Given the description of an element on the screen output the (x, y) to click on. 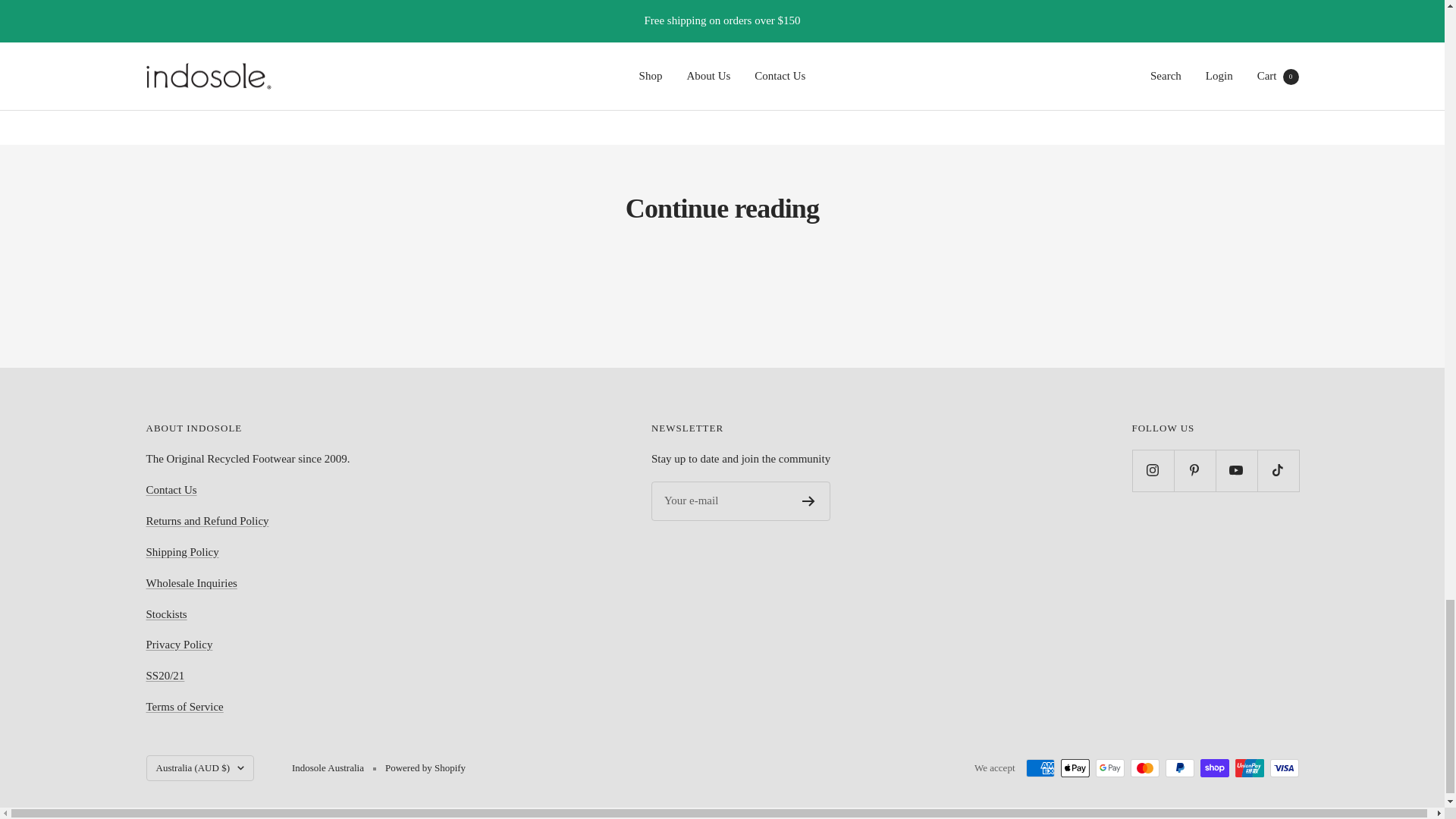
Shipping Policy (181, 551)
Terms of Service (183, 706)
Returns and Refund Policy (206, 521)
Register (808, 501)
